Given the description of an element on the screen output the (x, y) to click on. 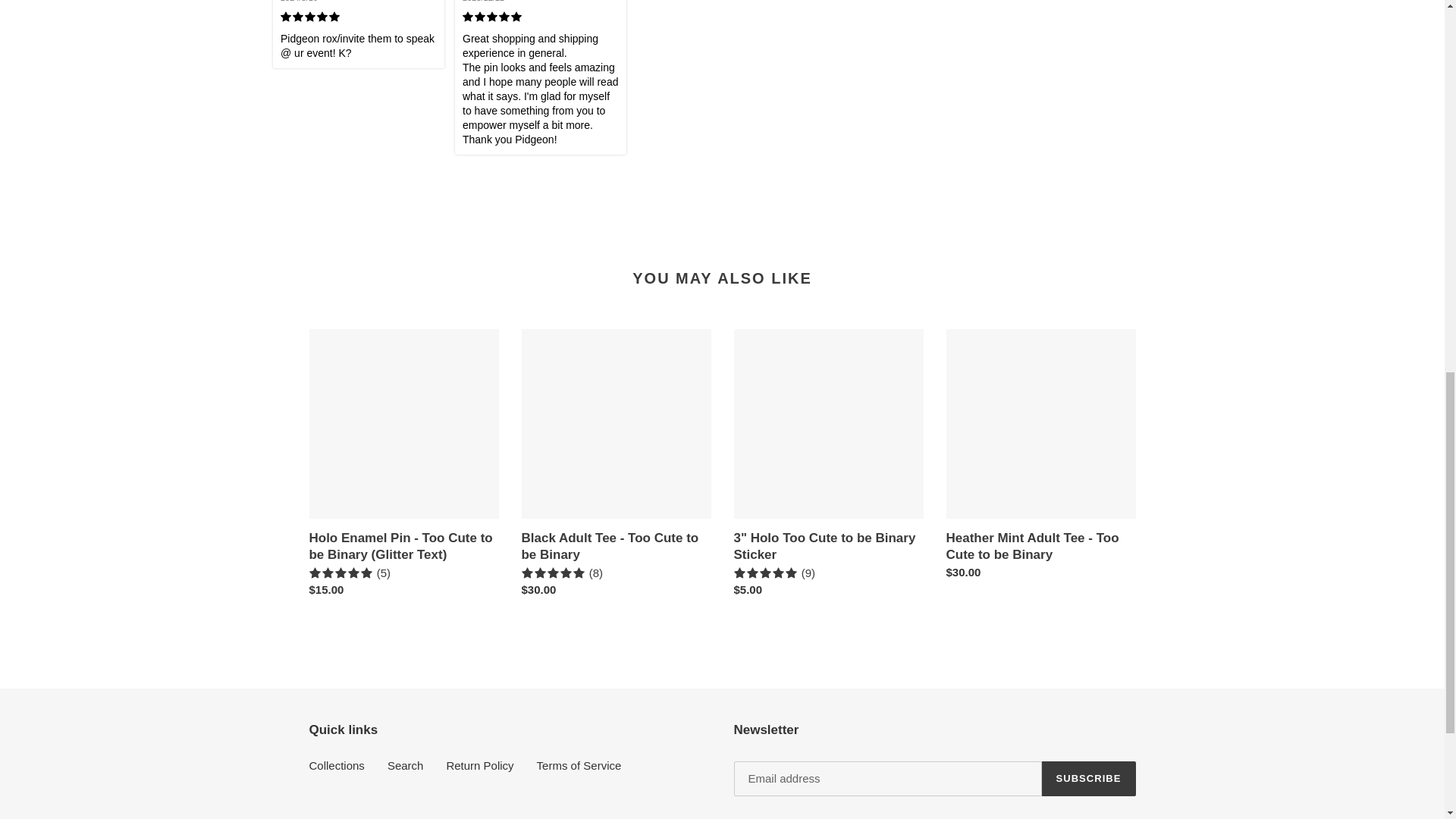
Terms of Service (579, 765)
Collections (336, 765)
SUBSCRIBE (1088, 778)
Search (405, 765)
Return Policy (479, 765)
